Given the description of an element on the screen output the (x, y) to click on. 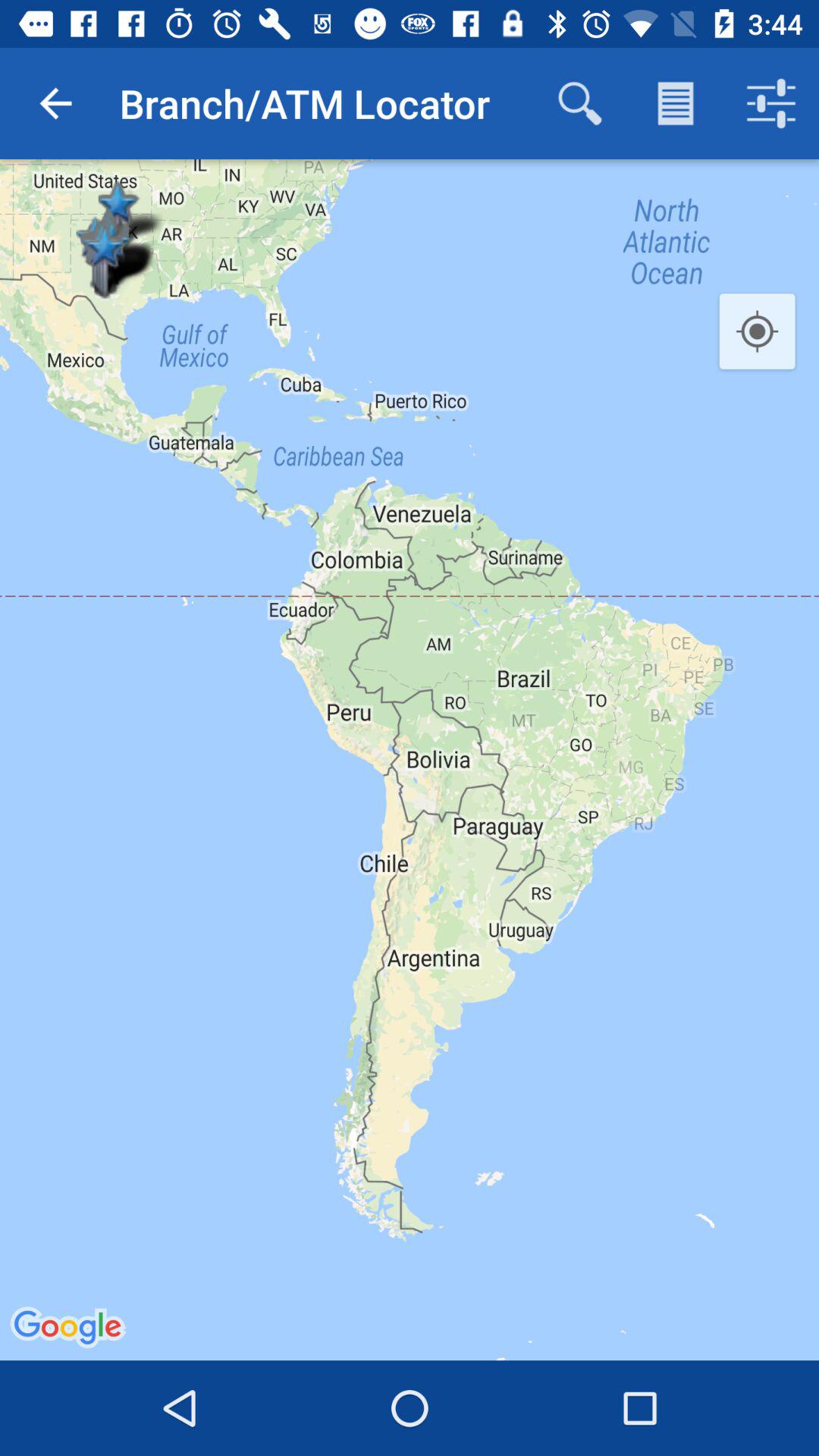
choose the item at the center (409, 759)
